Given the description of an element on the screen output the (x, y) to click on. 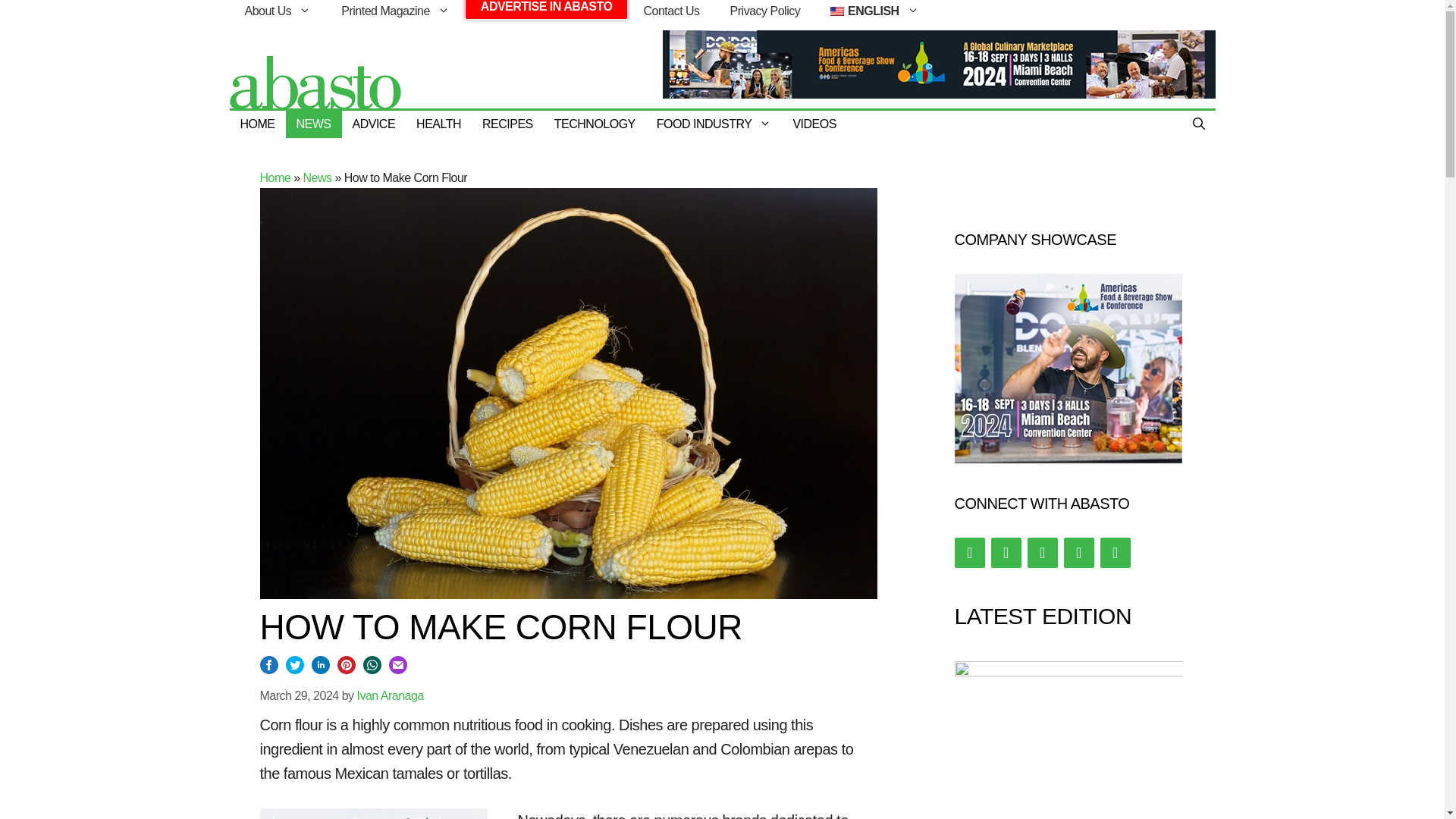
Privacy Policy (764, 11)
VIDEOS (813, 124)
Tweet this post! (293, 668)
HOME (256, 124)
View all posts by Ivan Aranaga (389, 695)
About Us (277, 11)
NEWS (312, 124)
Printed Magazine (395, 11)
Pin this post! (345, 668)
RECIPES (507, 124)
